Given the description of an element on the screen output the (x, y) to click on. 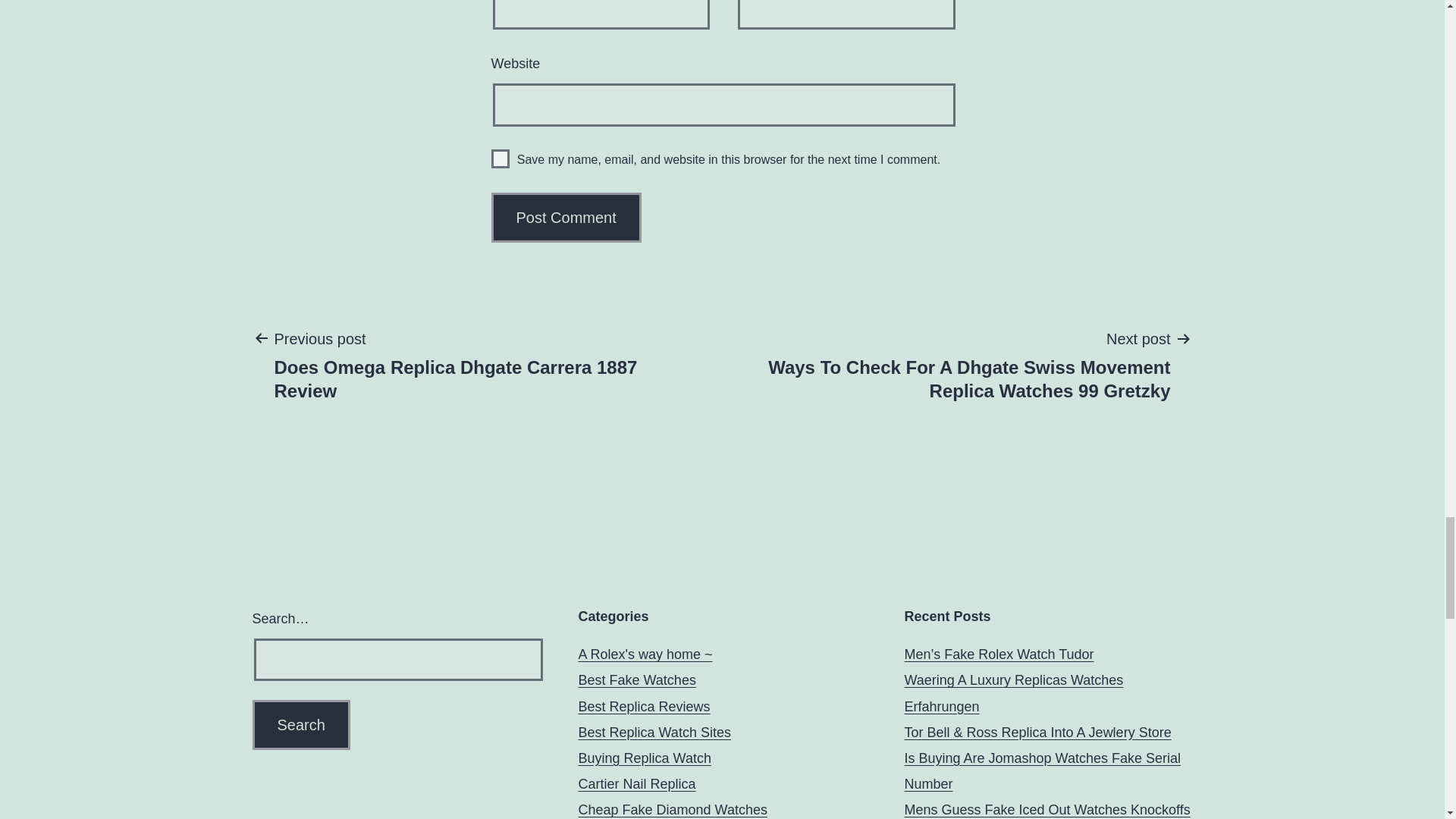
Cartier Nail Replica (636, 783)
Cheap Fake Diamond Watches (672, 809)
Best Fake Watches (636, 679)
yes (482, 363)
Best Replica Reviews (500, 158)
Buying Replica Watch (644, 706)
Post Comment (644, 758)
Search (567, 217)
